Given the description of an element on the screen output the (x, y) to click on. 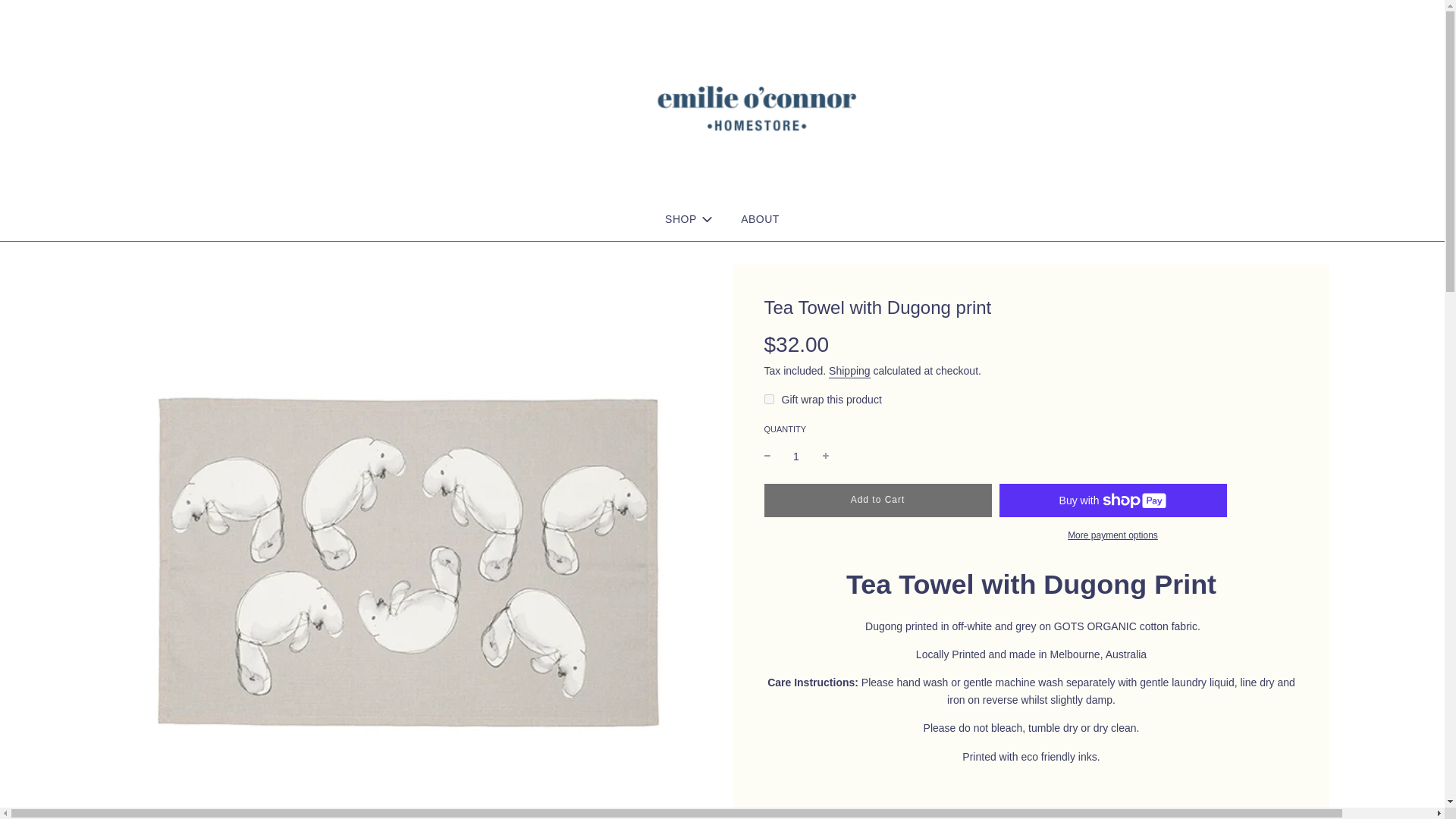
on (769, 398)
Shipping (849, 371)
SHOP (689, 219)
1 (796, 456)
ABOUT (759, 219)
